Given the description of an element on the screen output the (x, y) to click on. 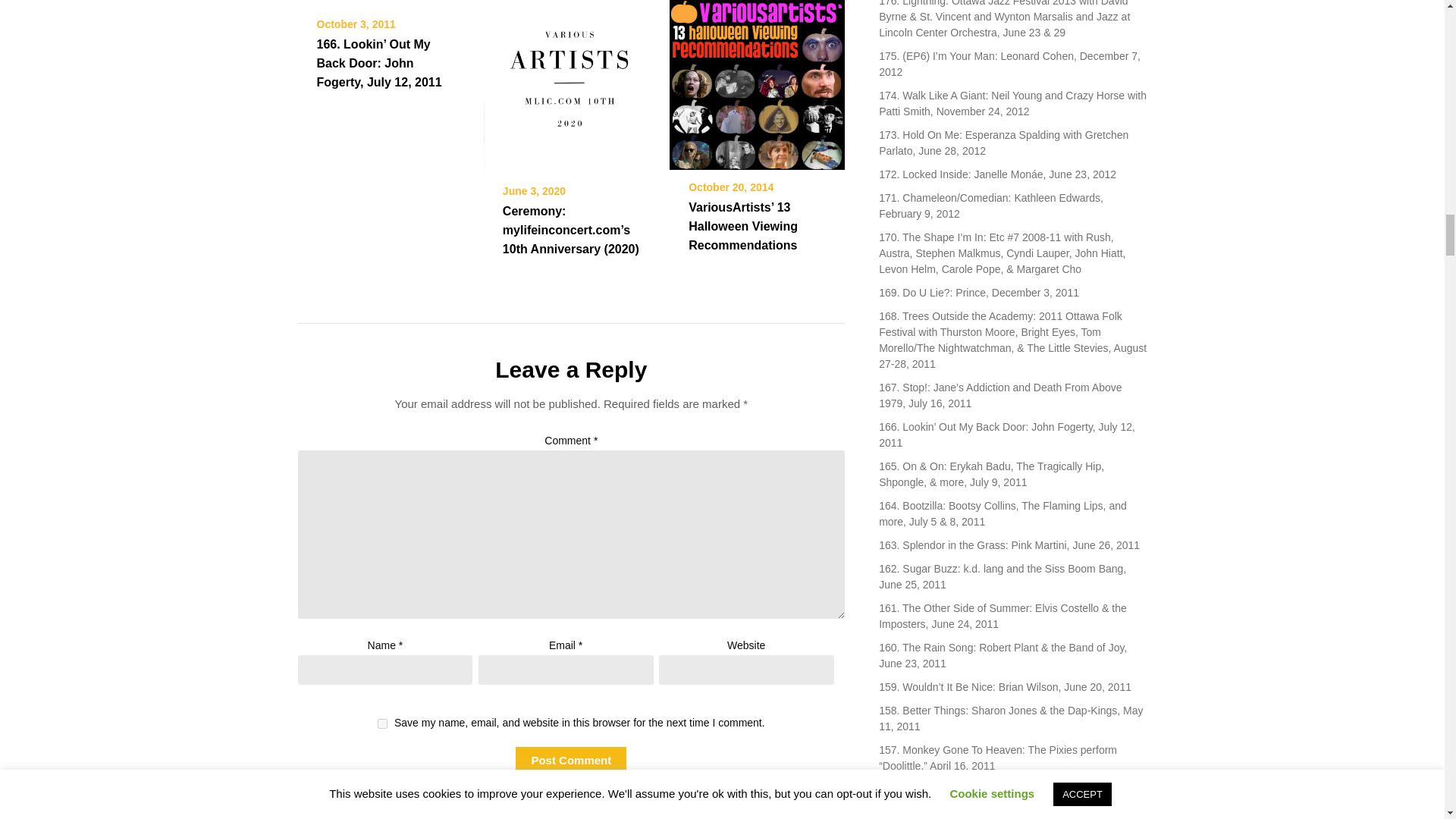
yes (382, 723)
Post Comment (570, 759)
